Given the description of an element on the screen output the (x, y) to click on. 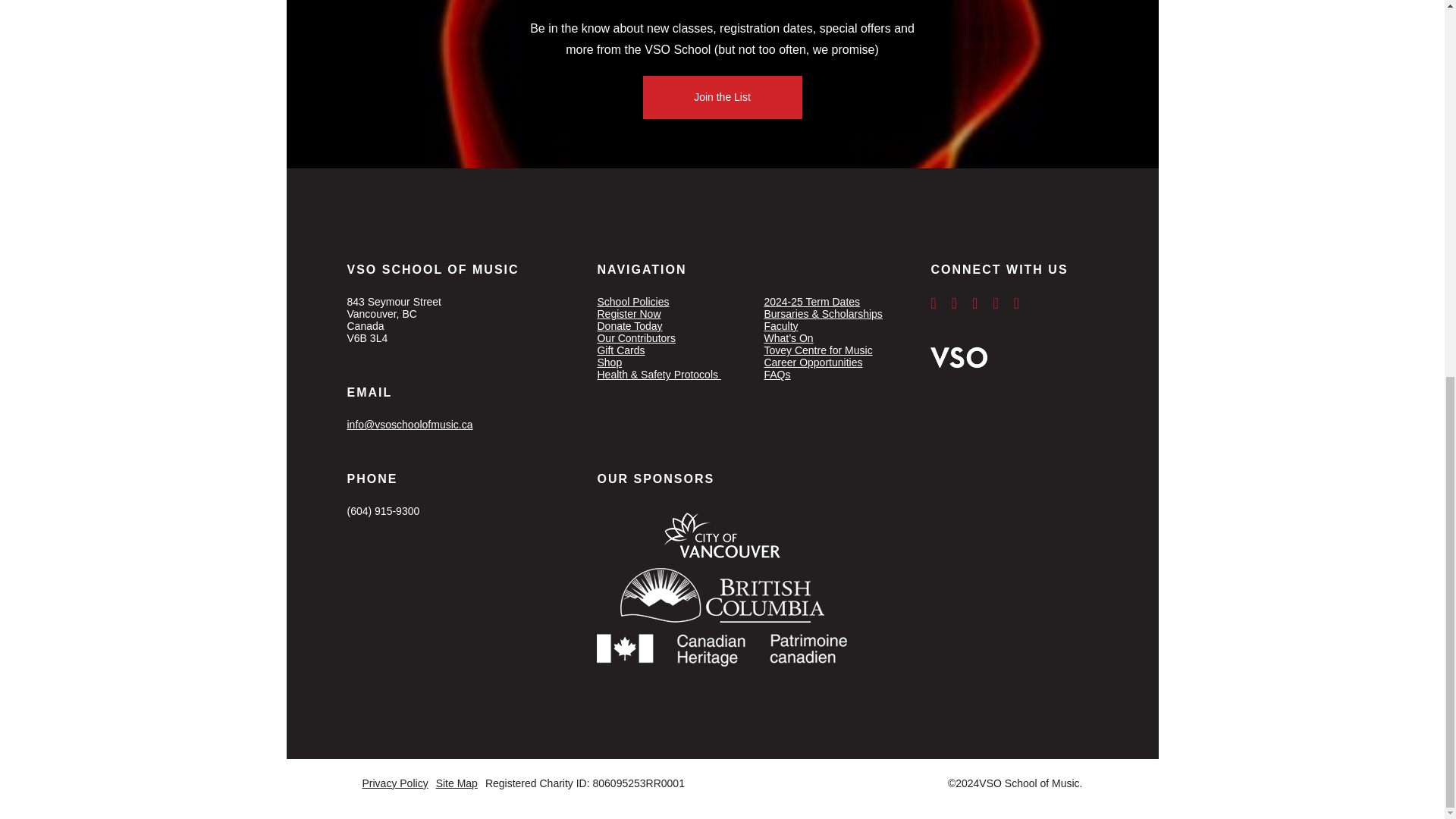
city-of-vancouver (721, 535)
canadian-heritage-logo (721, 647)
British Colubmia (722, 595)
